Given the description of an element on the screen output the (x, y) to click on. 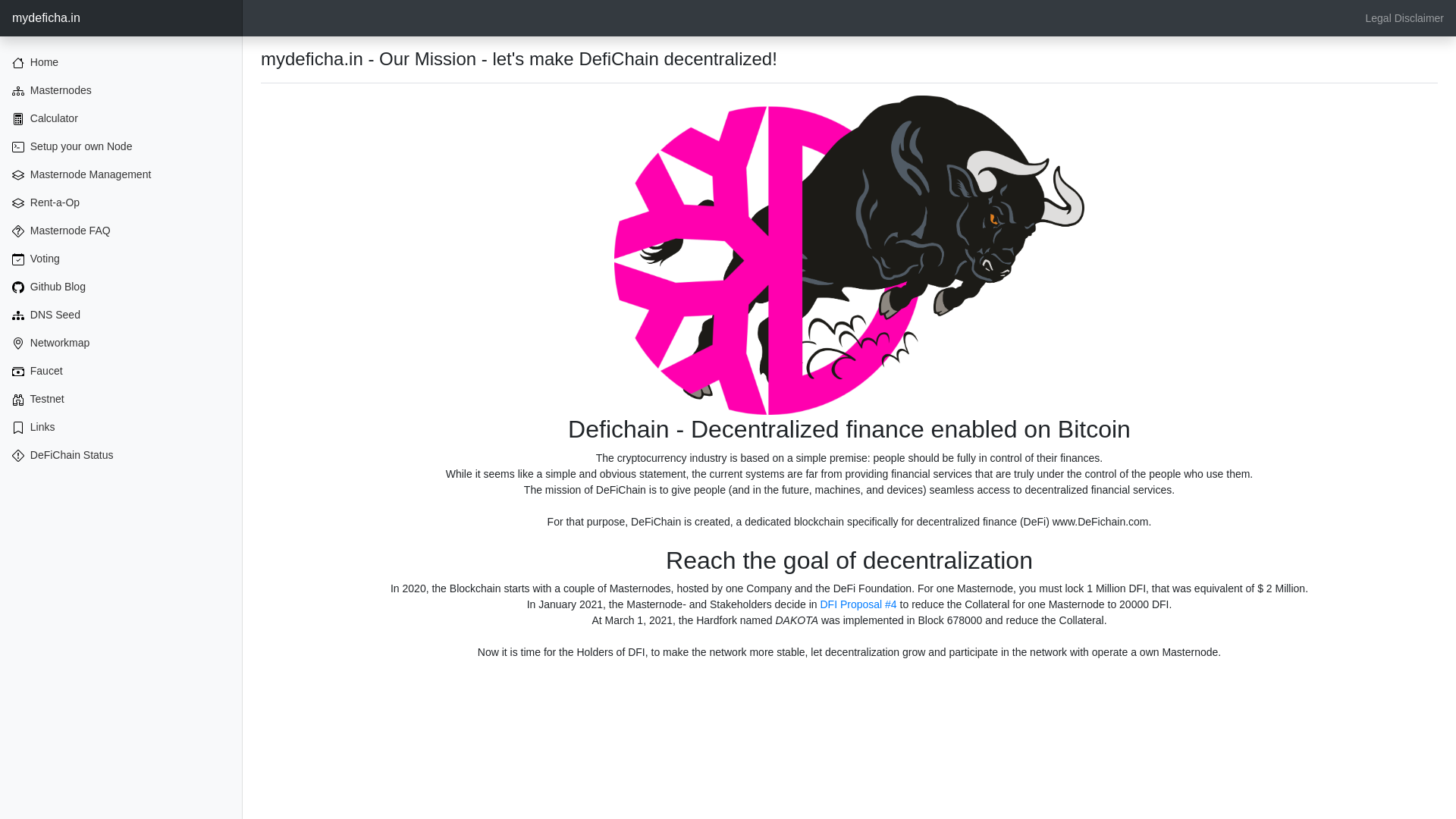
 Github Blog (121, 286)
 Masternode FAQ (121, 230)
 Links (121, 427)
mydeficha.in (121, 18)
 Setup your own Node (121, 146)
 Networkmap (121, 343)
 DNS Seed (121, 315)
Legal Disclaimer (1404, 18)
 Calculator (121, 118)
 Voting (121, 258)
 Masternode Management (121, 174)
 DeFiChain Status (121, 455)
 Testnet (121, 398)
 Home (121, 62)
 Faucet (121, 370)
